Given the description of an element on the screen output the (x, y) to click on. 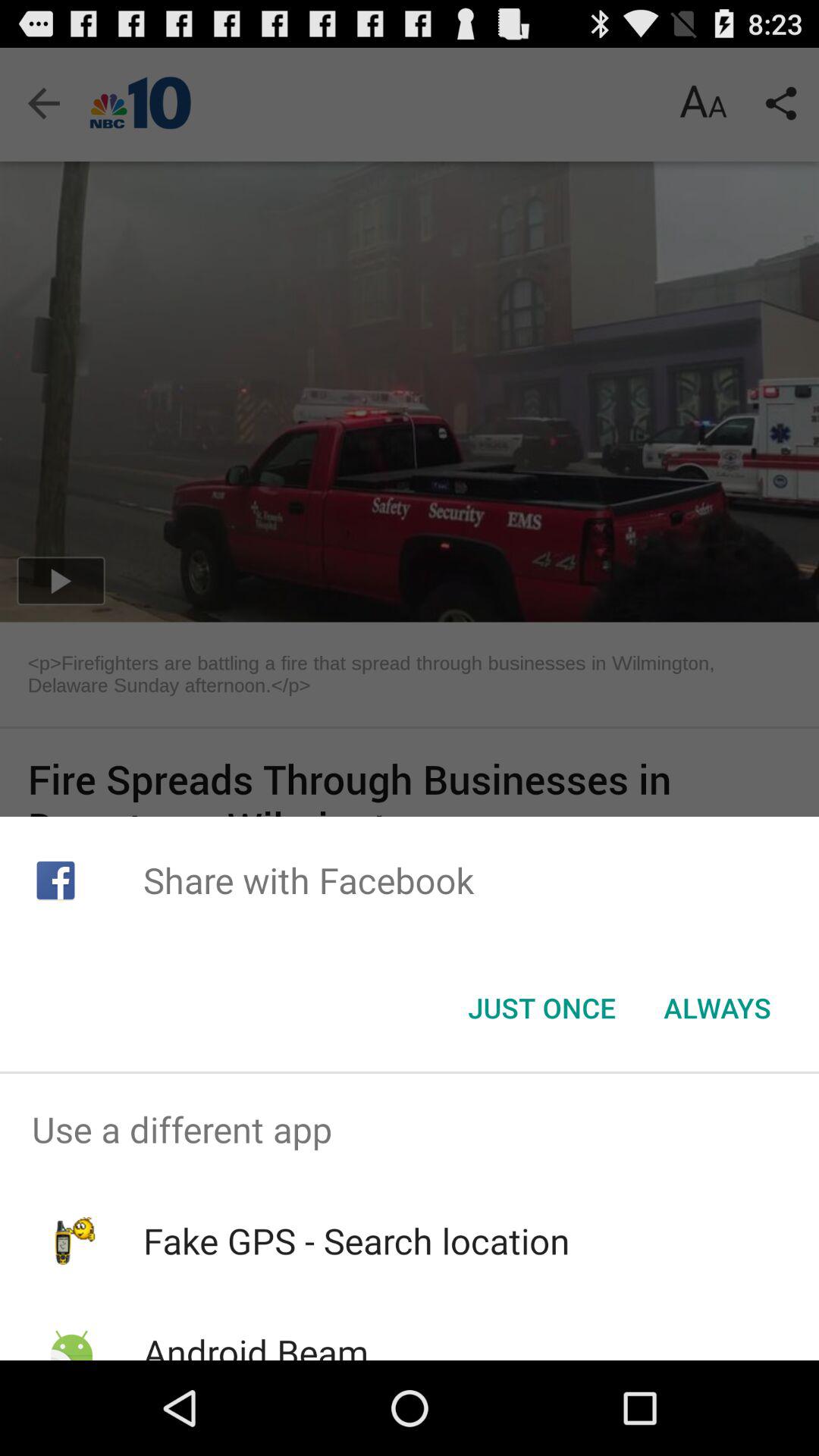
click app below the share with facebook item (541, 1007)
